Given the description of an element on the screen output the (x, y) to click on. 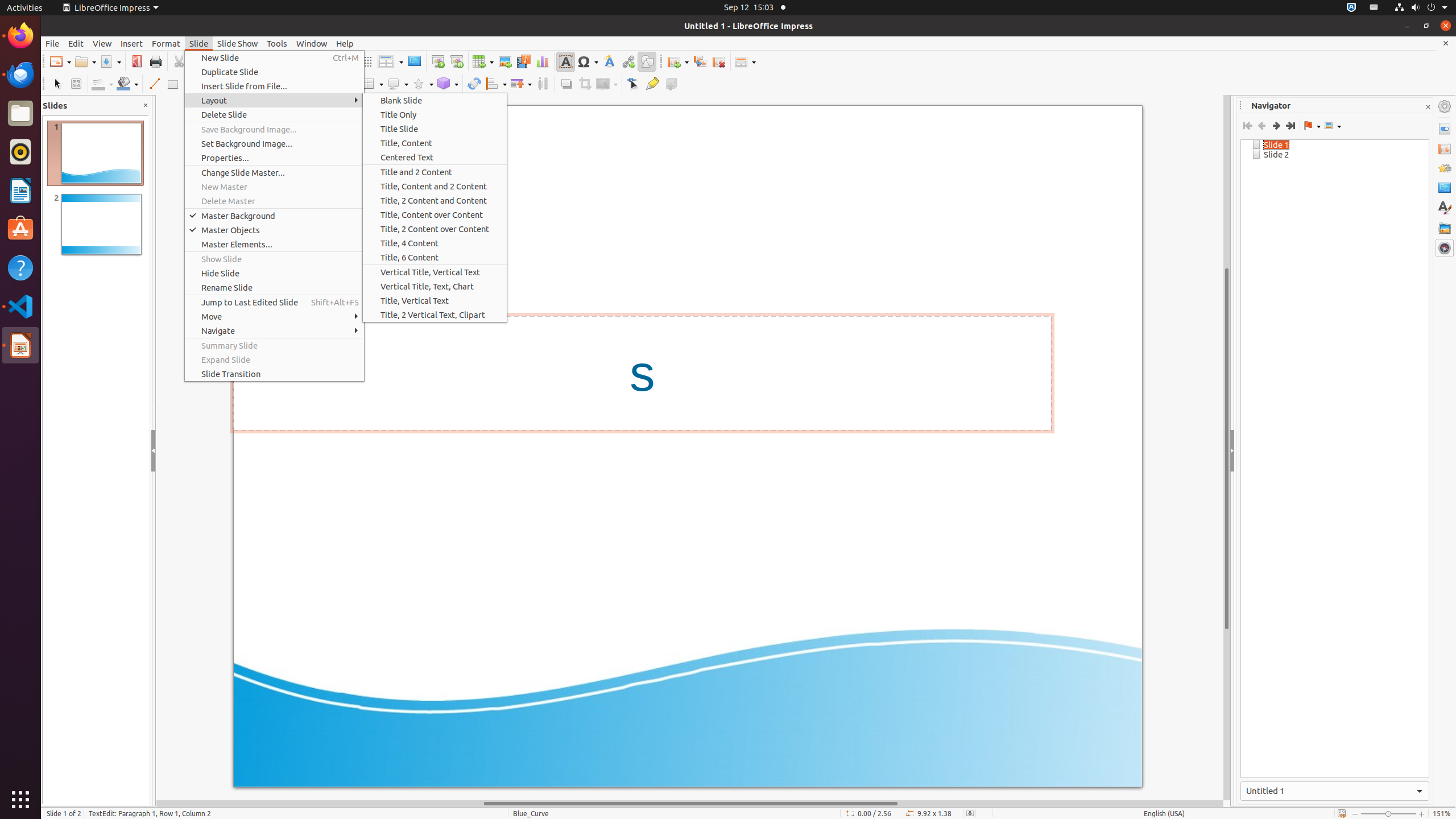
Title, 2 Content over Content Element type: menu-item (434, 228)
Close Sidebar Deck Element type: push-button (1427, 106)
Line Color Element type: push-button (101, 83)
Master Elements... Element type: menu-item (274, 244)
Set Background Image... Element type: menu-item (274, 143)
